Given the description of an element on the screen output the (x, y) to click on. 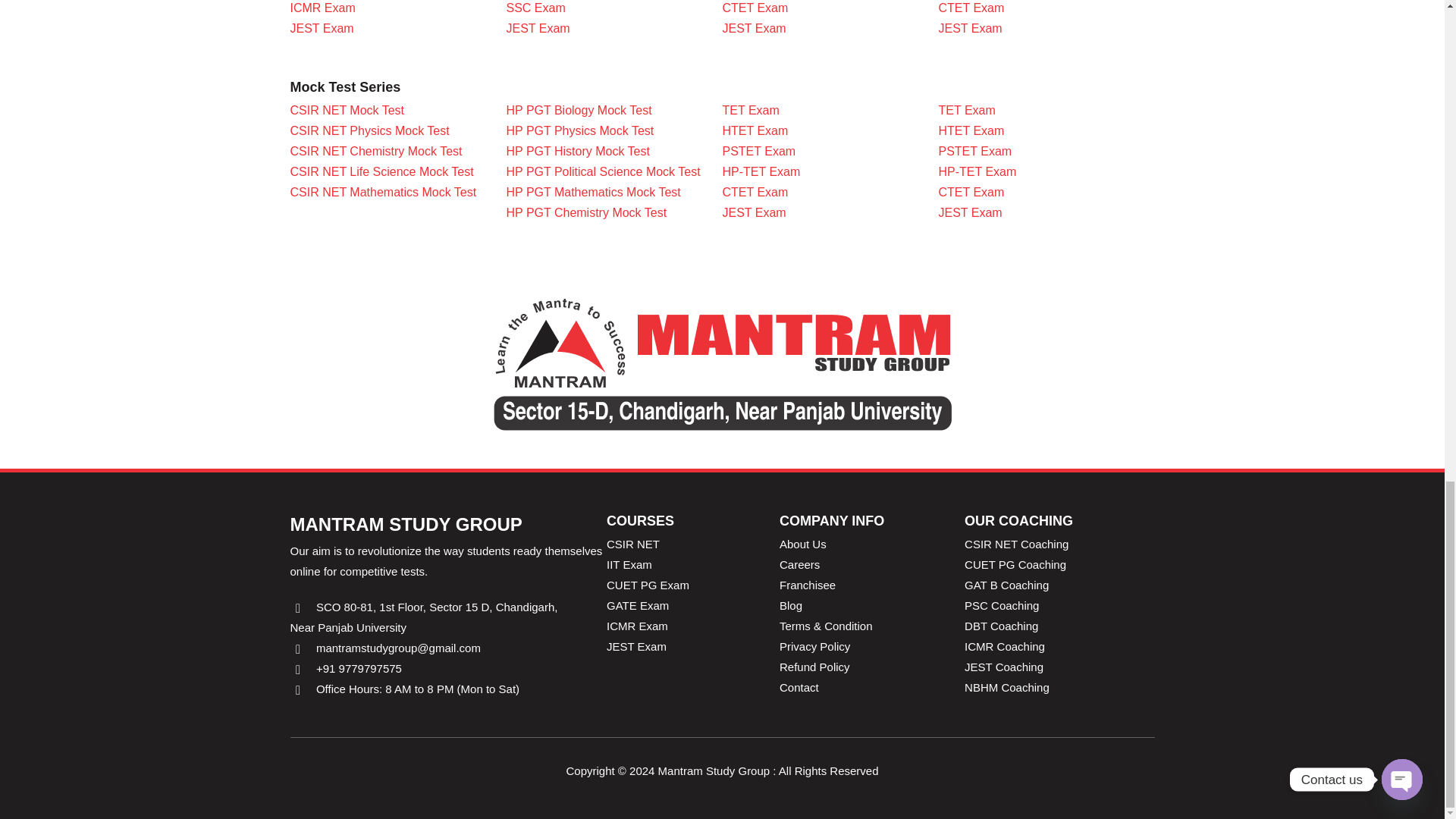
ICMR Exam (322, 7)
